Given the description of an element on the screen output the (x, y) to click on. 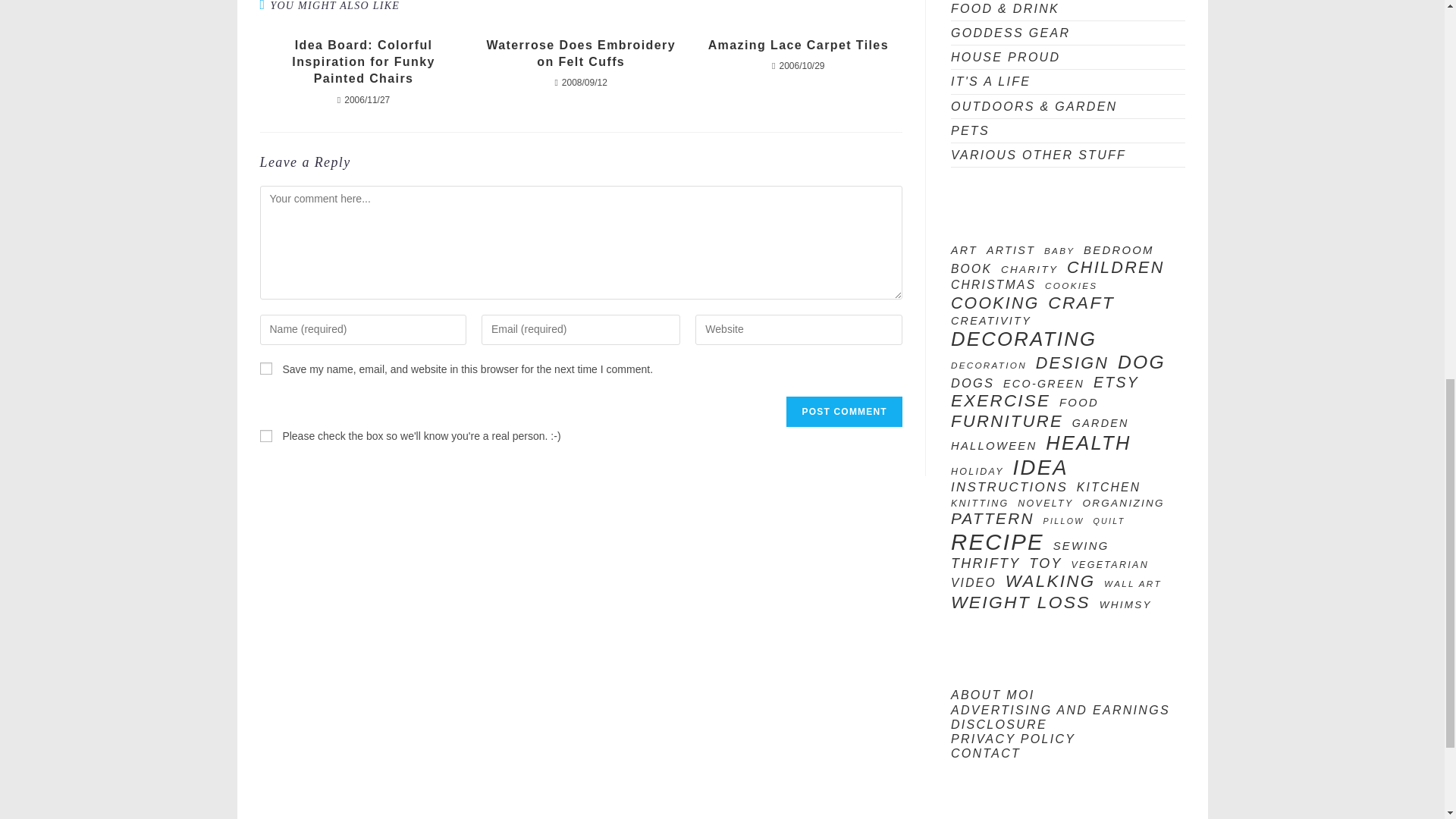
Post Comment (843, 411)
yes (264, 368)
on (264, 435)
Idea Board: Colorful Inspiration for Funky Painted Chairs (362, 61)
